Given the description of an element on the screen output the (x, y) to click on. 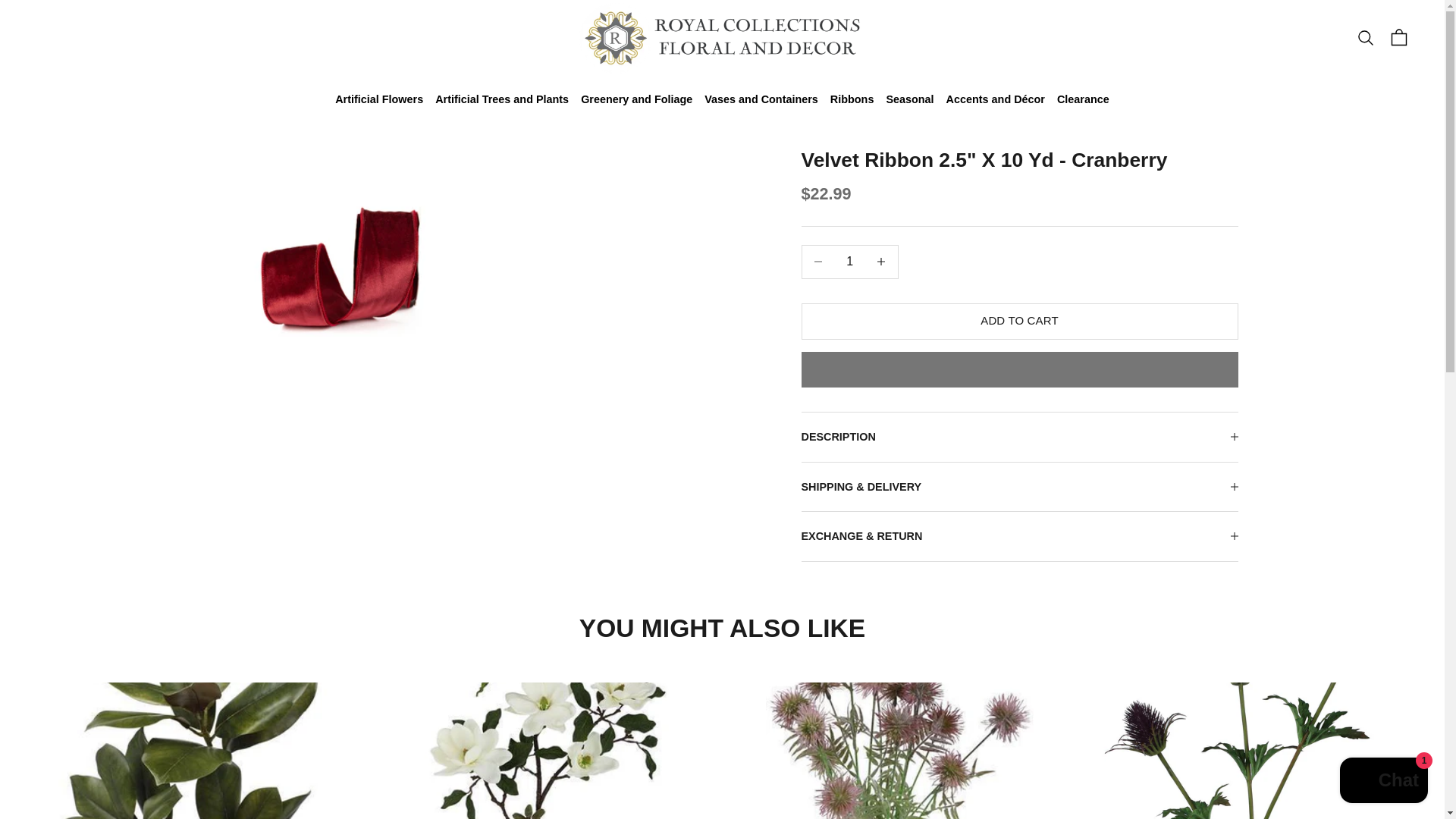
Shopify online store chat (1383, 781)
Royal Collections Floral and Decor (721, 38)
1 (849, 261)
